Given the description of an element on the screen output the (x, y) to click on. 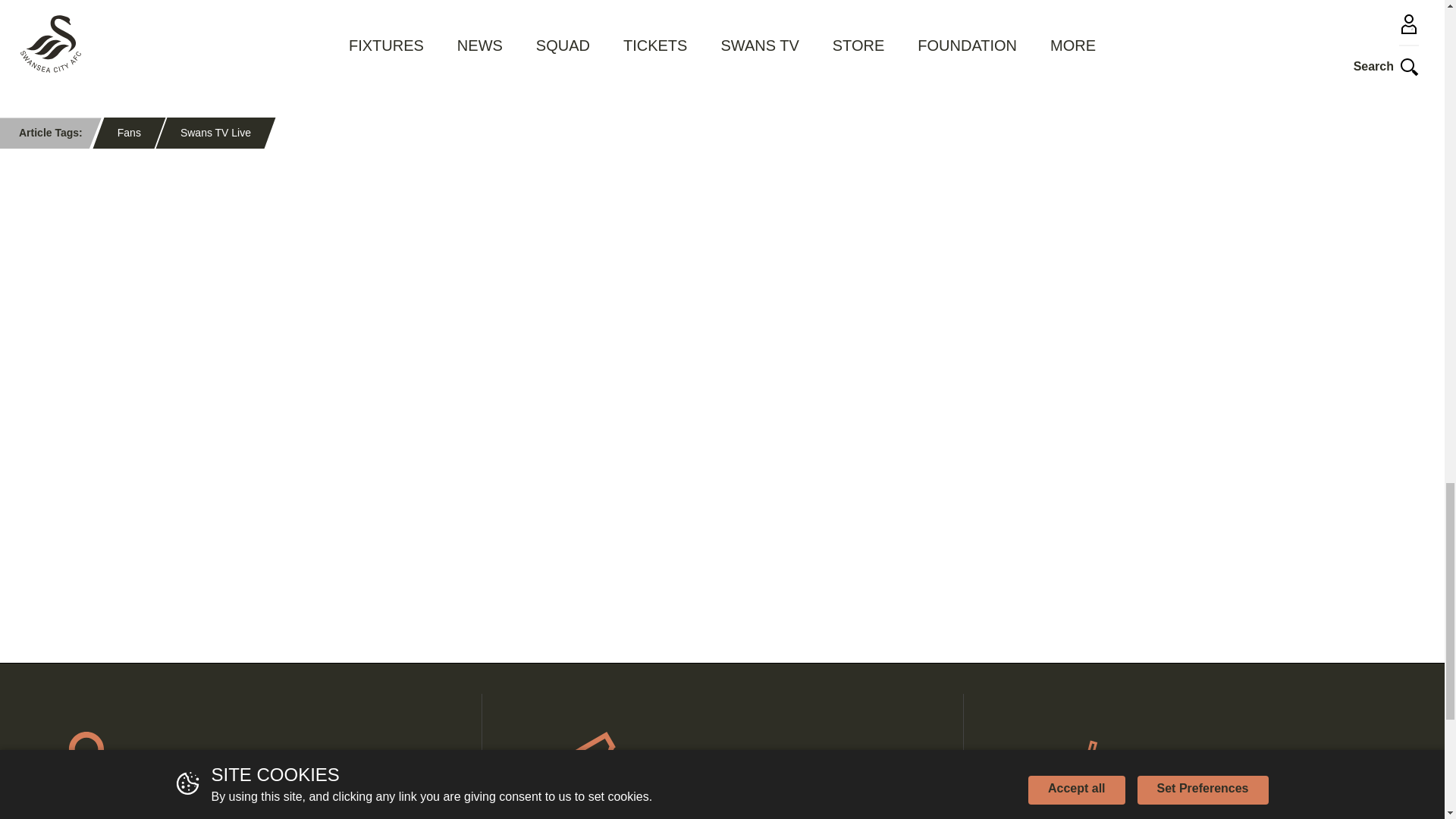
3rd party ad content (1085, 493)
3rd party ad content (357, 279)
3rd party ad content (721, 493)
3rd party ad content (357, 493)
3rd party ad content (721, 279)
3rd party ad content (1085, 279)
Sign up or log into Swans Club Account (240, 756)
